Given the description of an element on the screen output the (x, y) to click on. 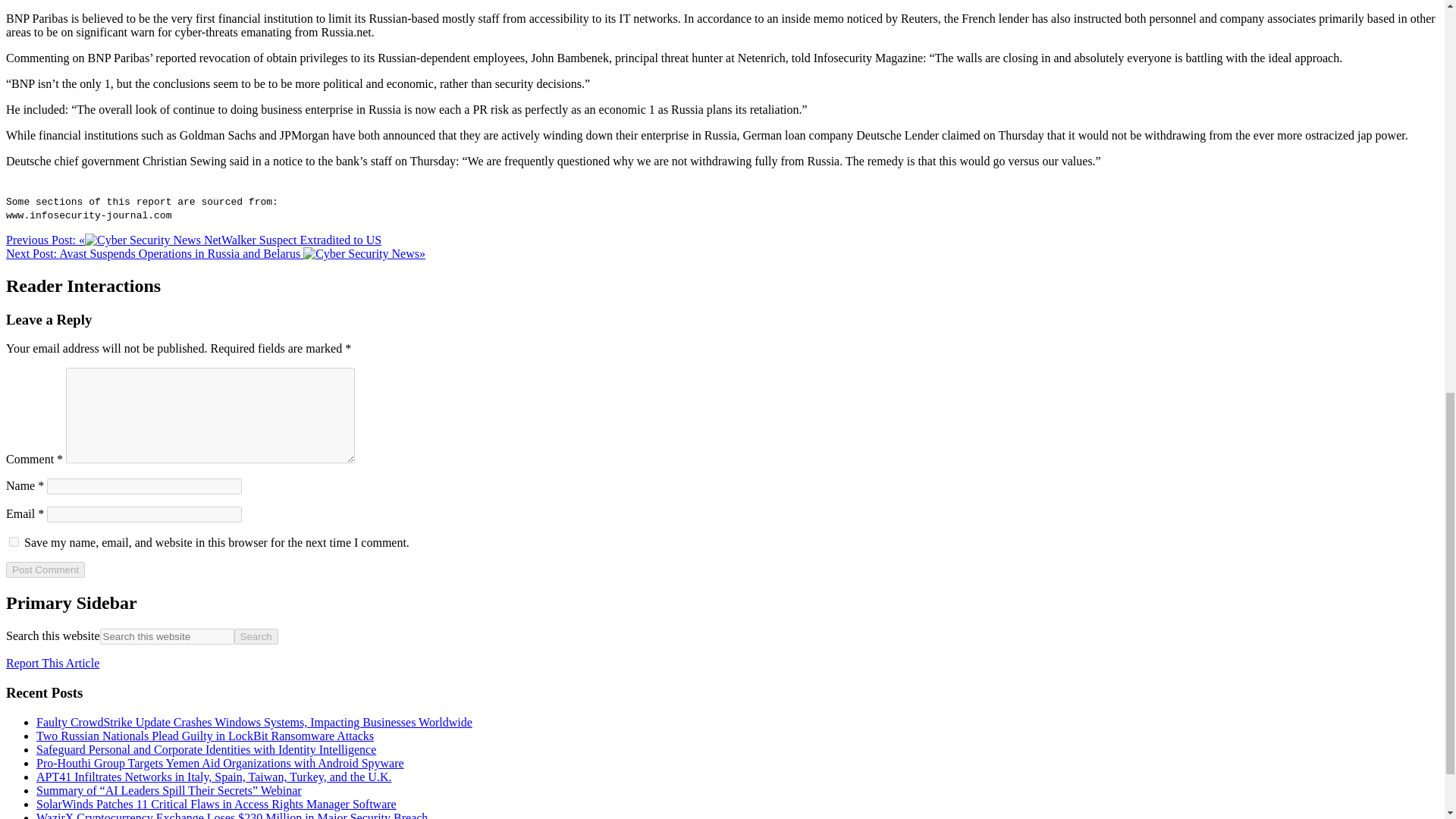
Search (256, 636)
Post Comment (44, 569)
Report This Article (52, 662)
Post Comment (44, 569)
Search (256, 636)
yes (13, 542)
Search (256, 636)
